Given the description of an element on the screen output the (x, y) to click on. 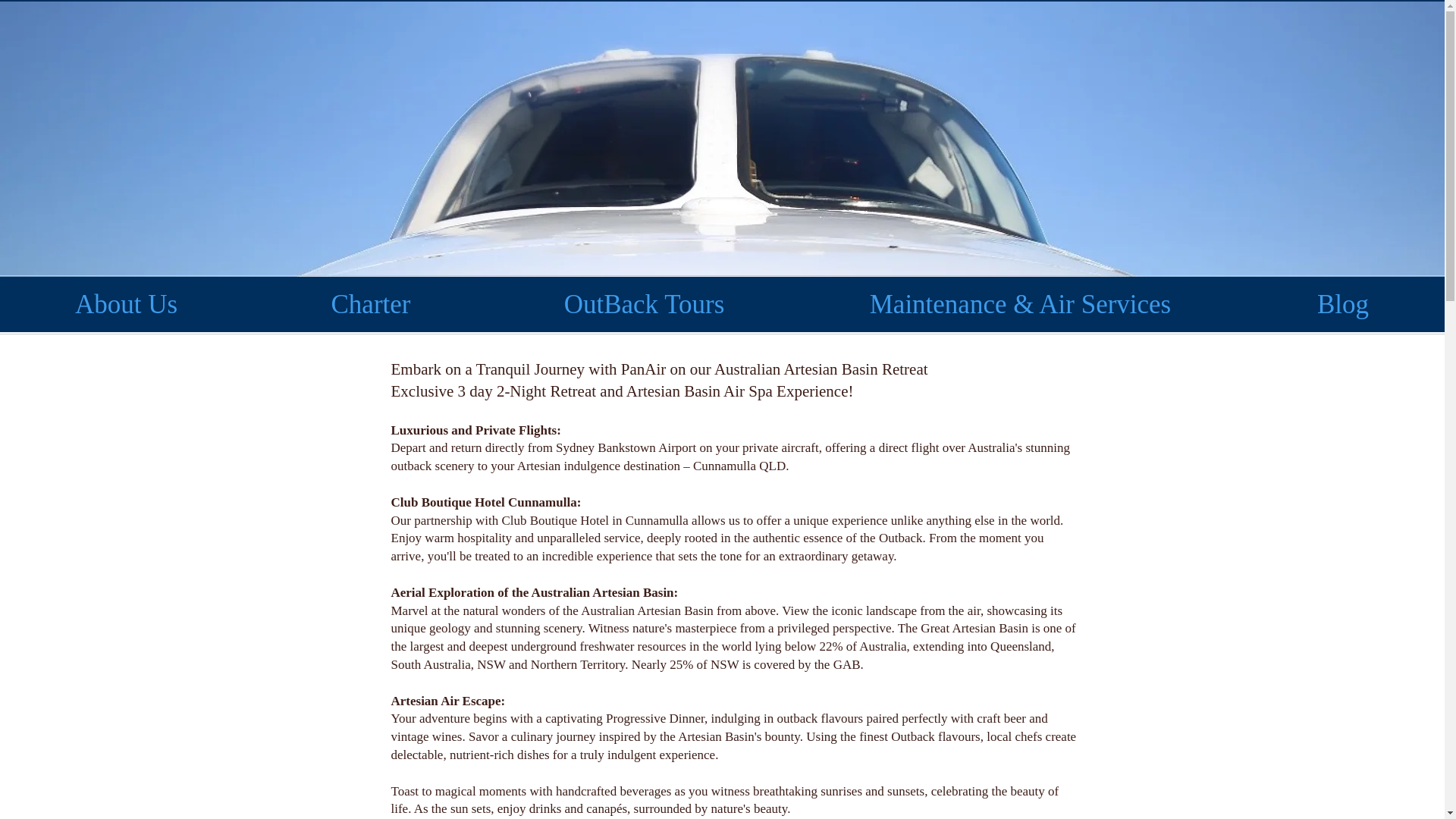
About Us (125, 304)
OutBack Tours (644, 304)
Charter (370, 304)
